Given the description of an element on the screen output the (x, y) to click on. 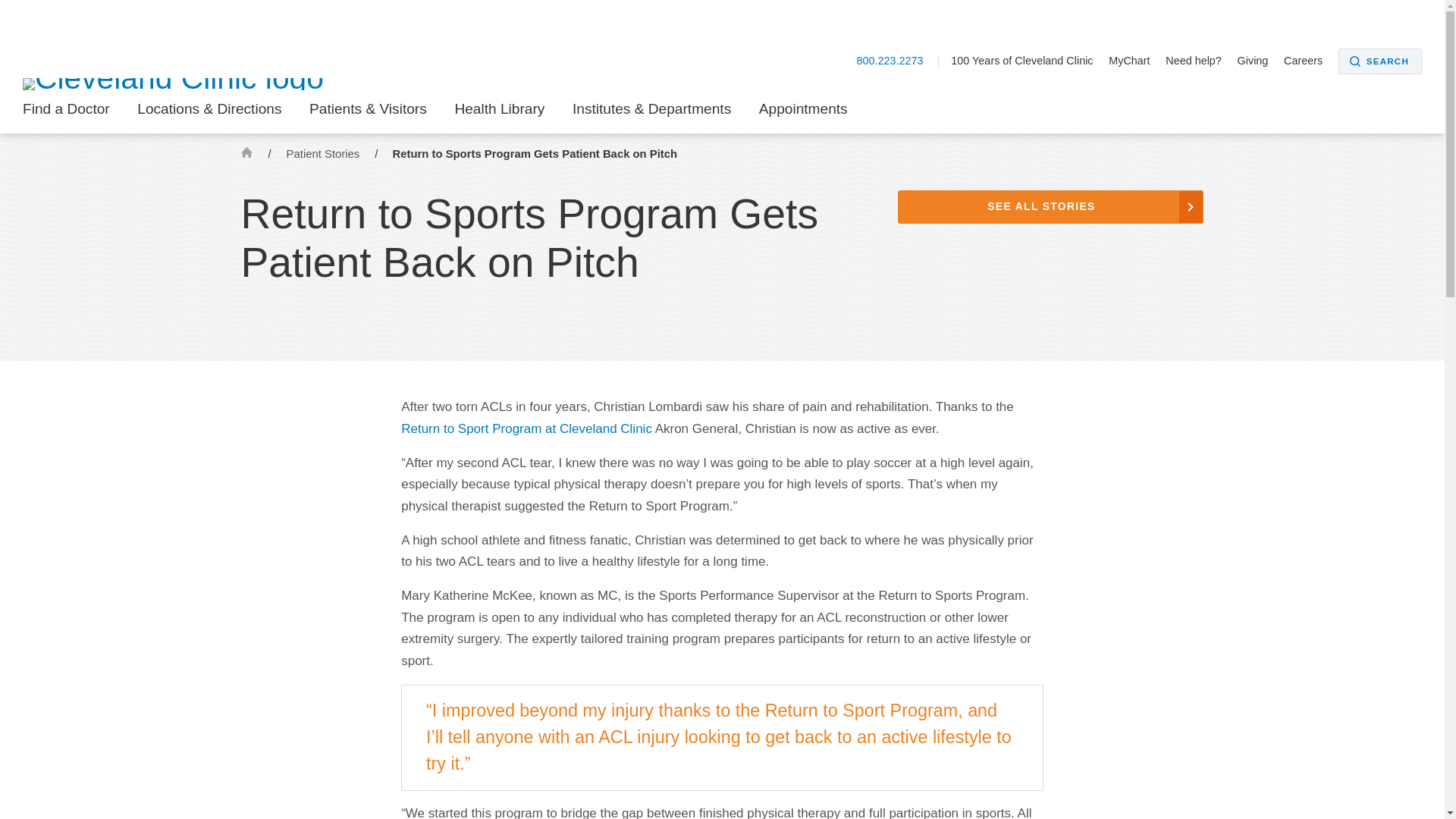
Patient Stories (324, 153)
Need help? (1199, 60)
Return to Sport Program at Cleveland Clinic (526, 428)
Need help? (1199, 60)
SEE ALL STORIES (1051, 206)
Find a Doctor (66, 113)
100 Years of Cleveland Clinic (1027, 60)
Home (246, 152)
MyChart (1134, 60)
Appointments (802, 113)
